Given the description of an element on the screen output the (x, y) to click on. 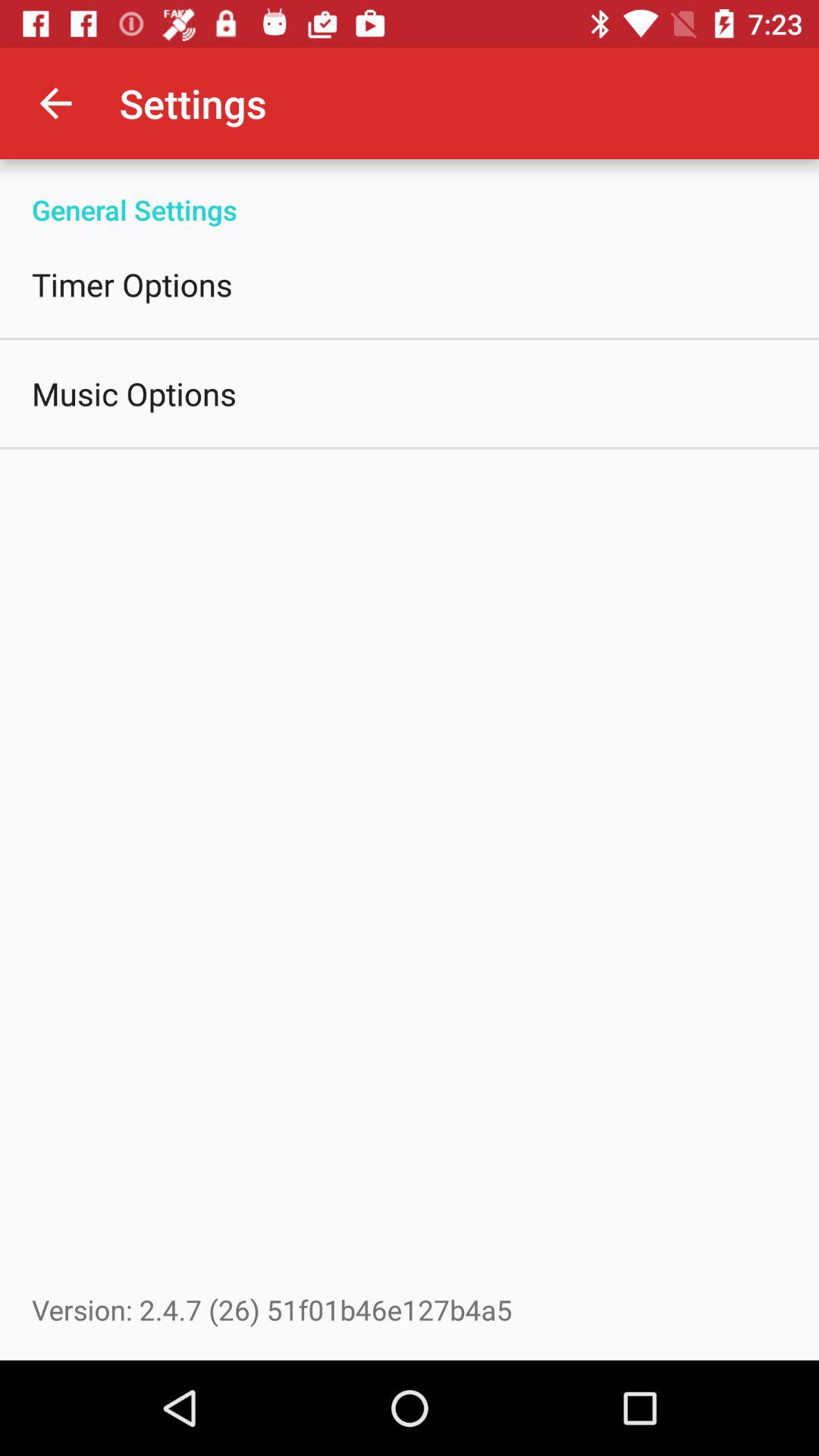
swipe to the timer options icon (131, 283)
